Given the description of an element on the screen output the (x, y) to click on. 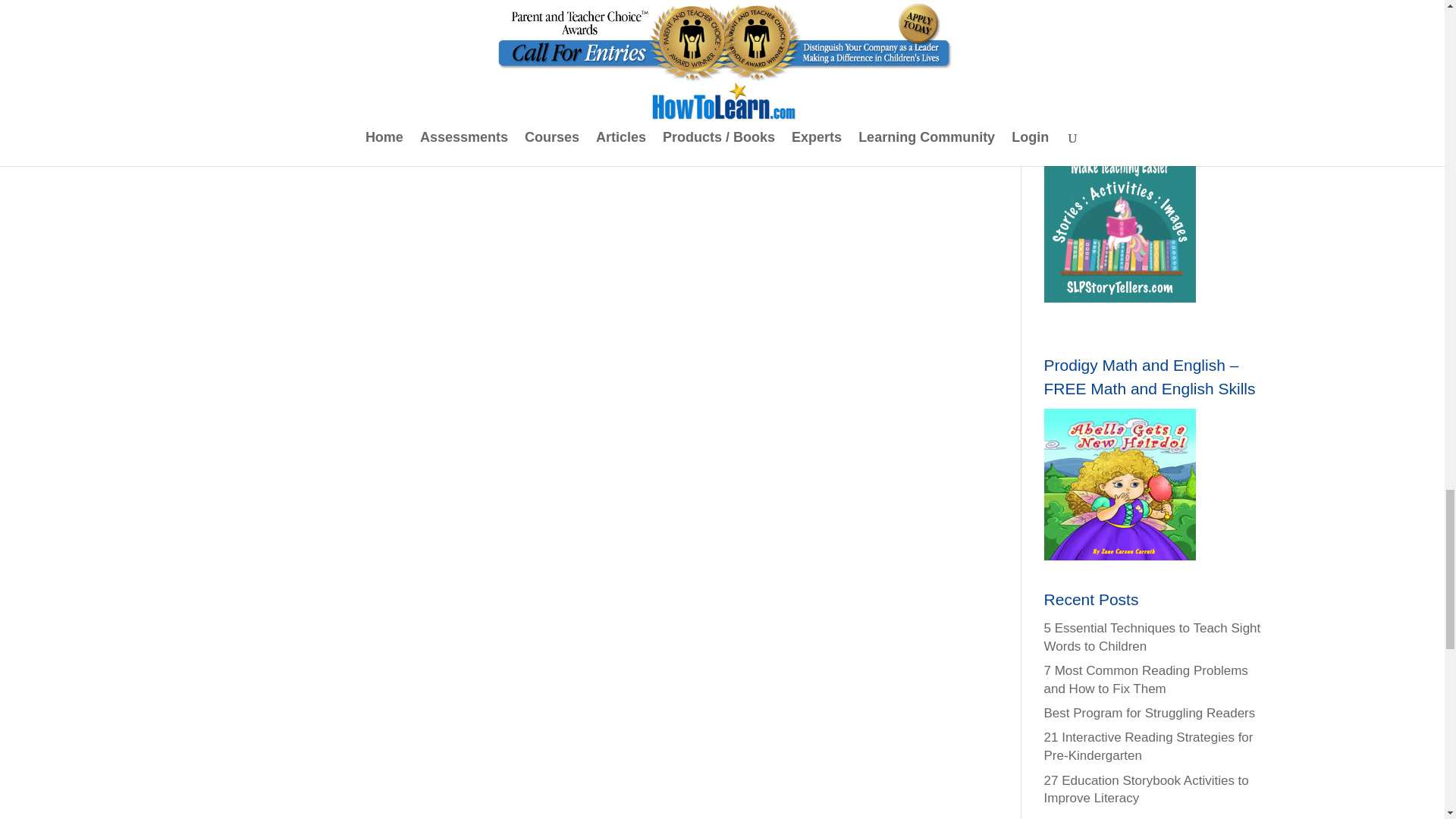
Best Program for Struggling Readers (1149, 712)
7 Most Common Reading Problems and How to Fix Them (1145, 679)
21 Interactive Reading Strategies for Pre-Kindergarten (1148, 746)
5 Essential Techniques to Teach Sight Words to Children (1151, 636)
Prodigy Math and English - FREE Math and English Skills (1119, 484)
27 Education Storybook Activities to Improve Literacy (1146, 789)
